Given the description of an element on the screen output the (x, y) to click on. 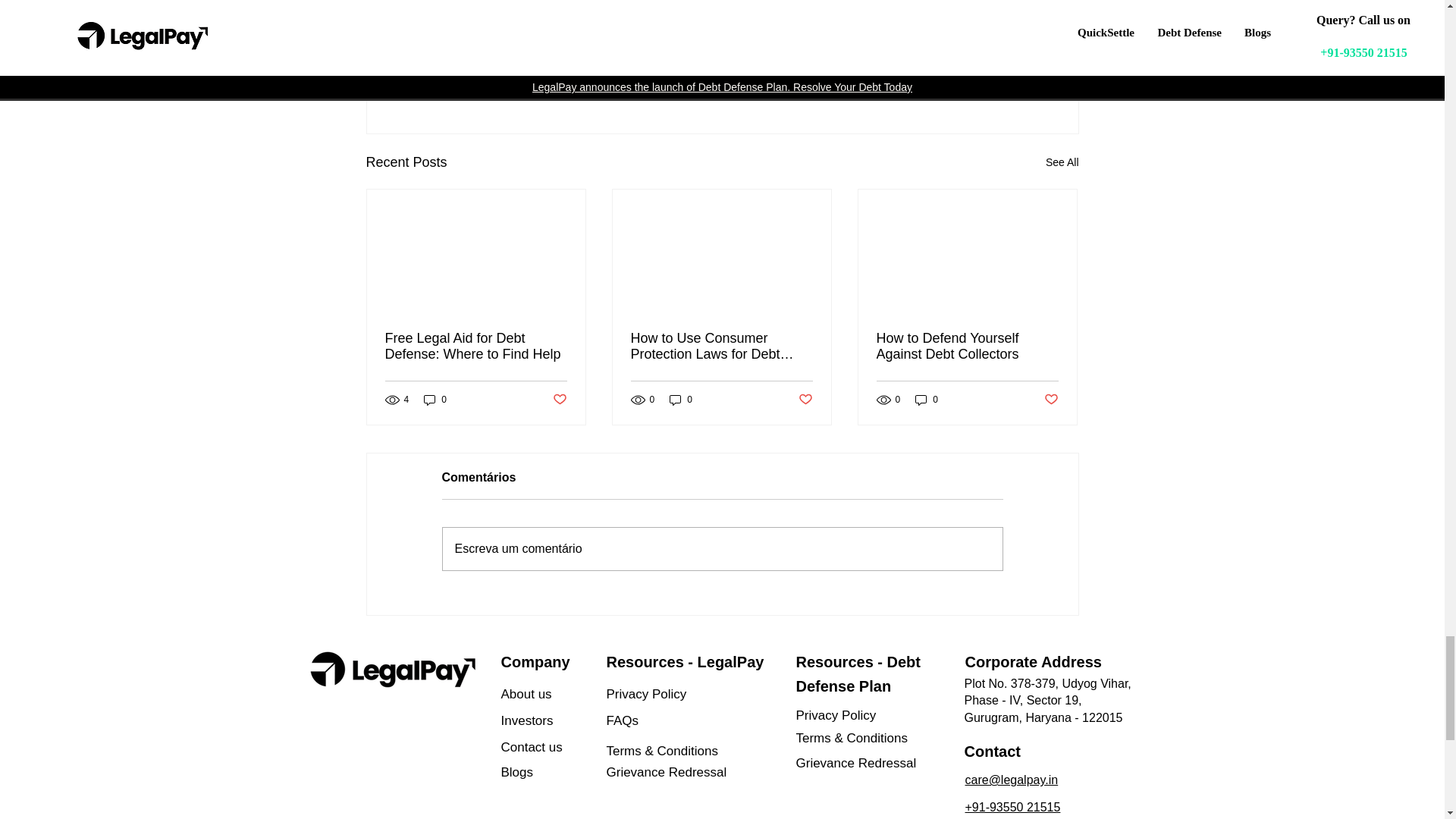
0 (435, 400)
Blogs (989, 34)
About us (553, 694)
Investors (553, 720)
Contact us (563, 747)
How to Use Consumer Protection Laws for Debt Defense (721, 346)
FAQs (679, 720)
0 (681, 400)
Free Legal Aid for Debt Defense: Where to Find Help (476, 346)
How to Defend Yourself Against Debt Collectors (967, 346)
See All (1061, 162)
0 (926, 400)
Privacy Policy (990, 79)
Post not marked as liked (679, 694)
